Given the description of an element on the screen output the (x, y) to click on. 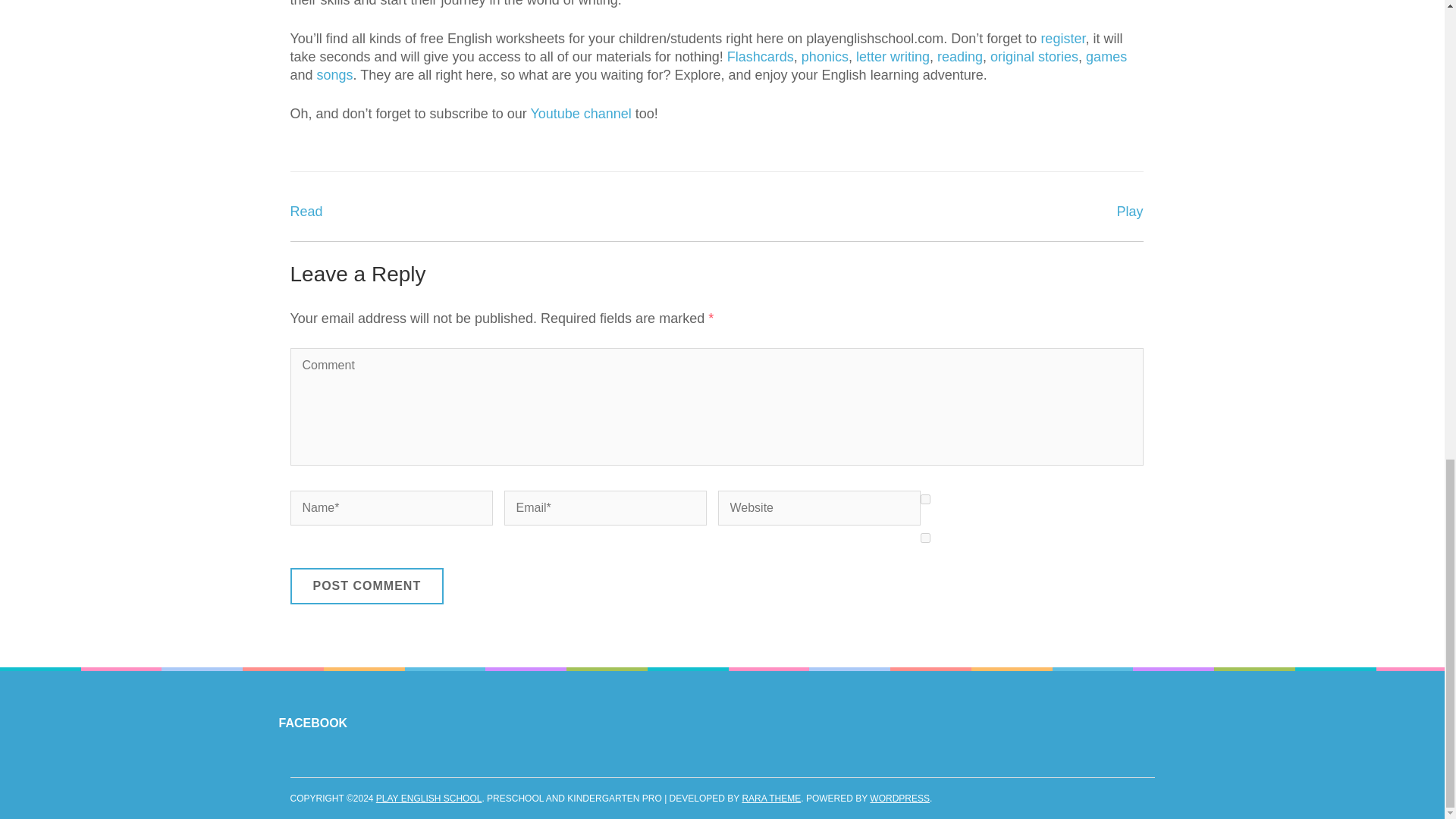
subscribe (925, 499)
subscribe (925, 537)
Post Comment (366, 586)
